Given the description of an element on the screen output the (x, y) to click on. 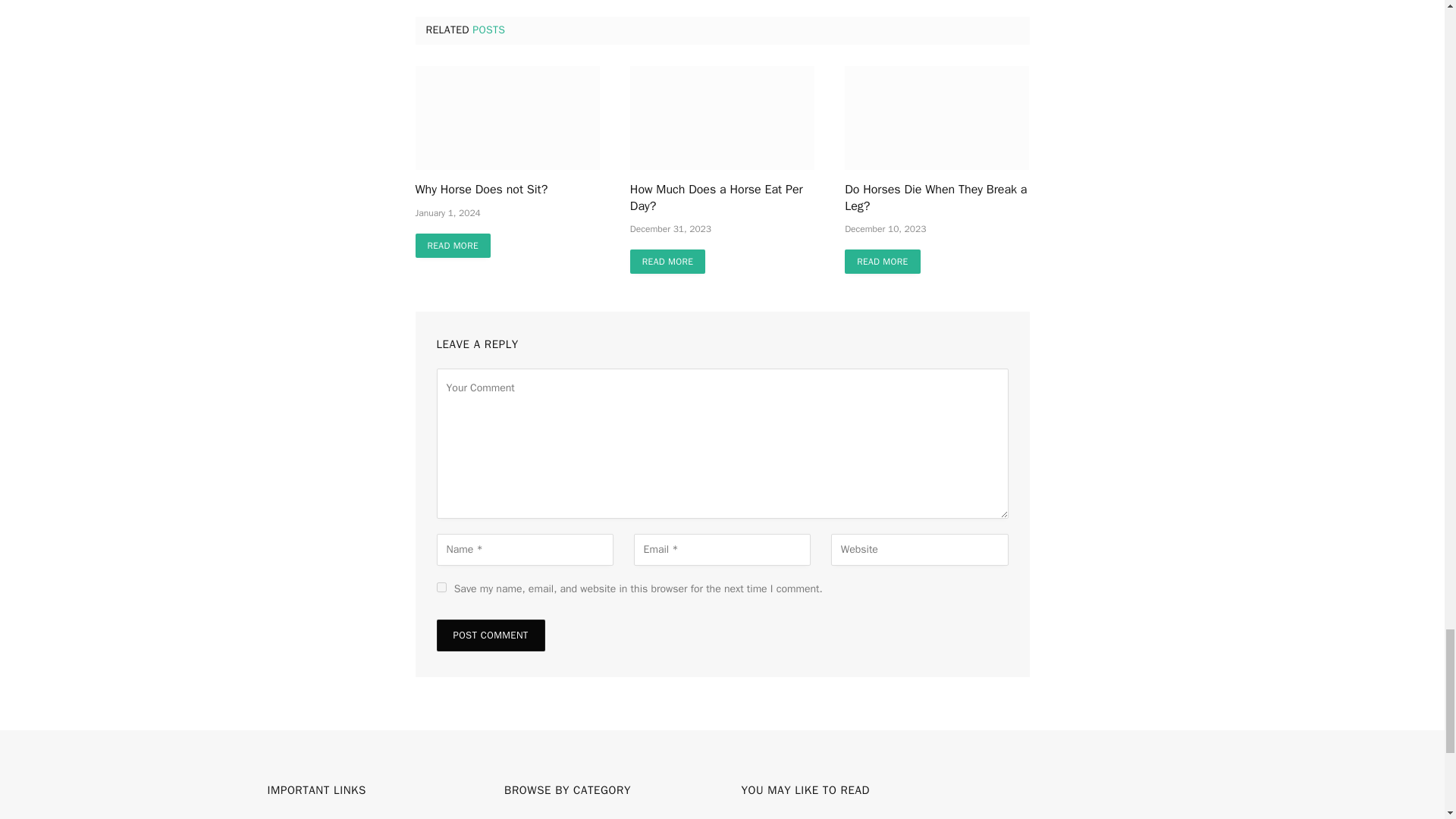
yes (441, 587)
Post Comment (490, 635)
